Given the description of an element on the screen output the (x, y) to click on. 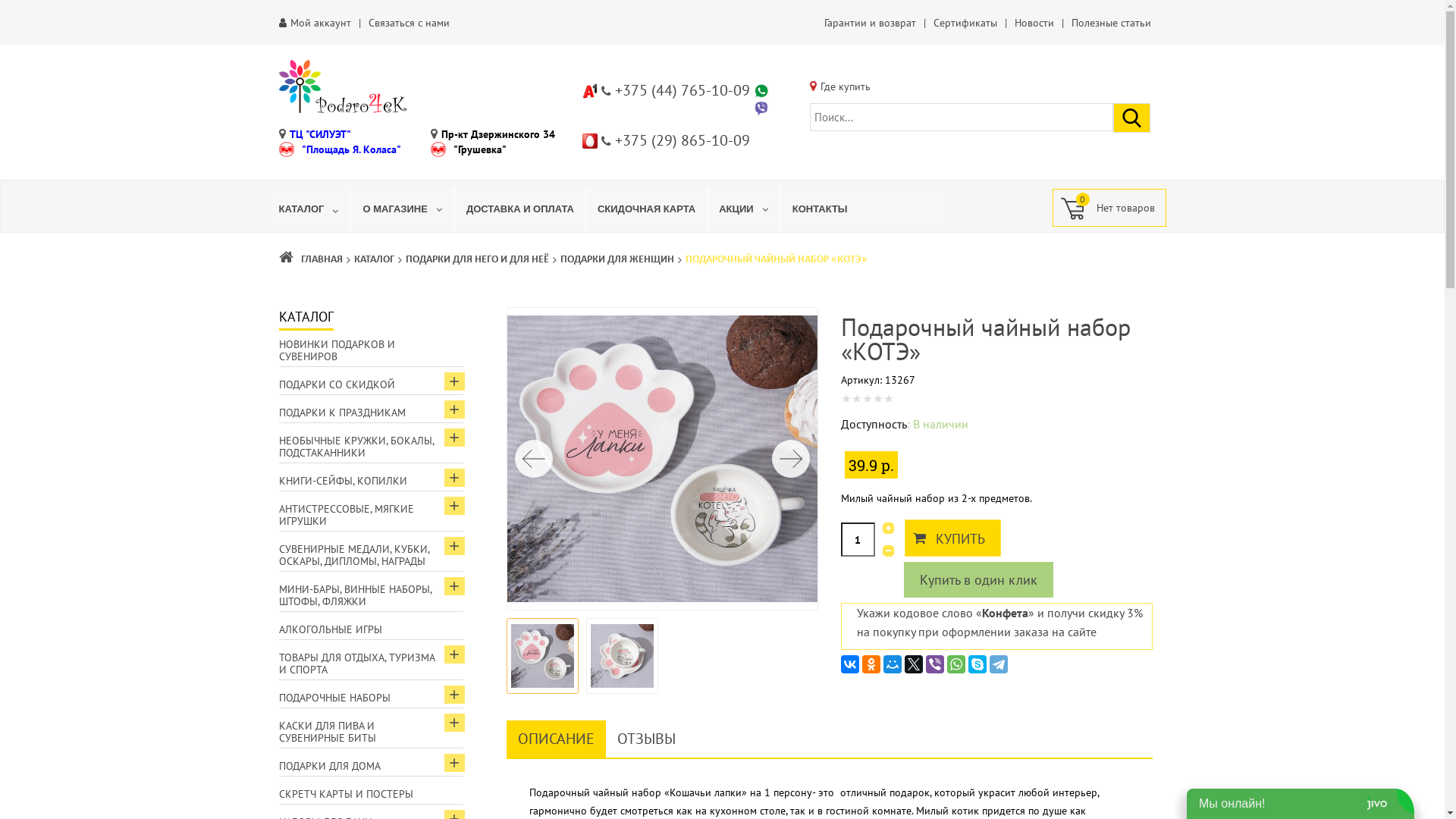
+375 (29) 865-10-09 Element type: text (681, 140)
+375 (44) 765-10-09 Element type: text (681, 90)
Twitter Element type: hover (913, 664)
Viber Element type: hover (934, 664)
Skype Element type: hover (977, 664)
WhatsApp Element type: hover (956, 664)
Telegram Element type: hover (998, 664)
